Given the description of an element on the screen output the (x, y) to click on. 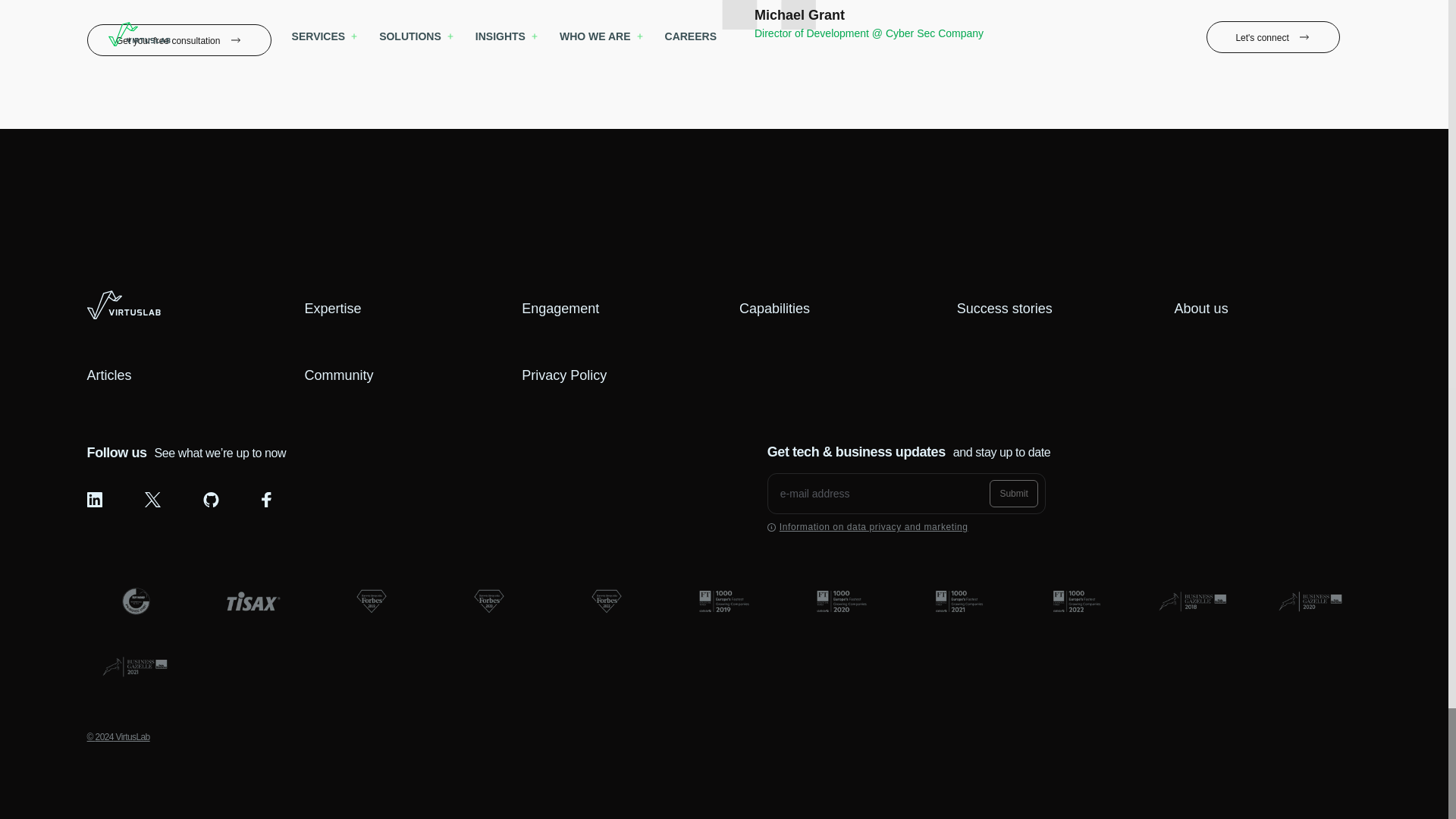
twitter.com profile (152, 499)
Homepage (123, 304)
linkedin.com profile (94, 499)
github.com profile (211, 499)
